Given the description of an element on the screen output the (x, y) to click on. 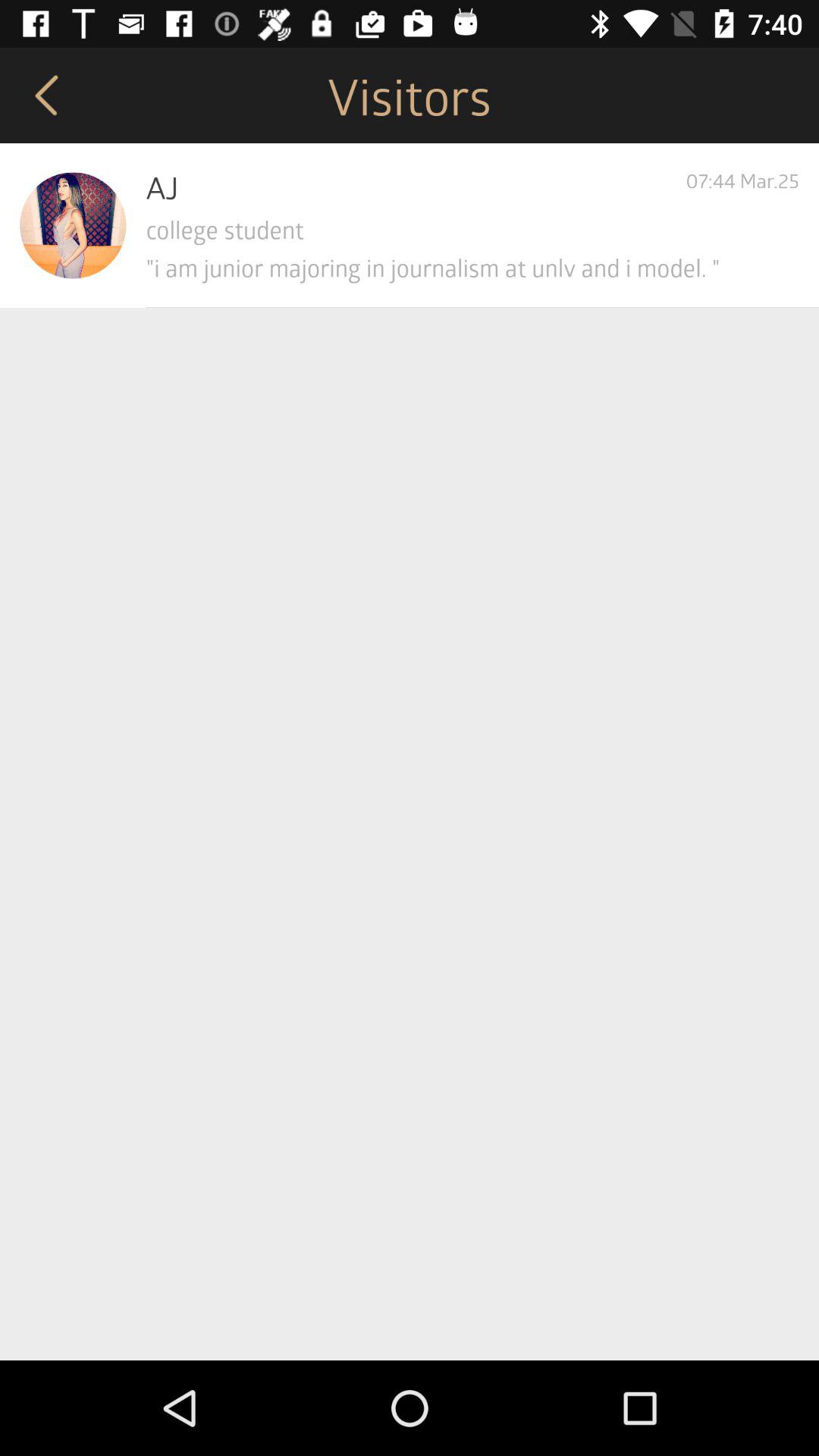
flip until visitors (409, 95)
